Given the description of an element on the screen output the (x, y) to click on. 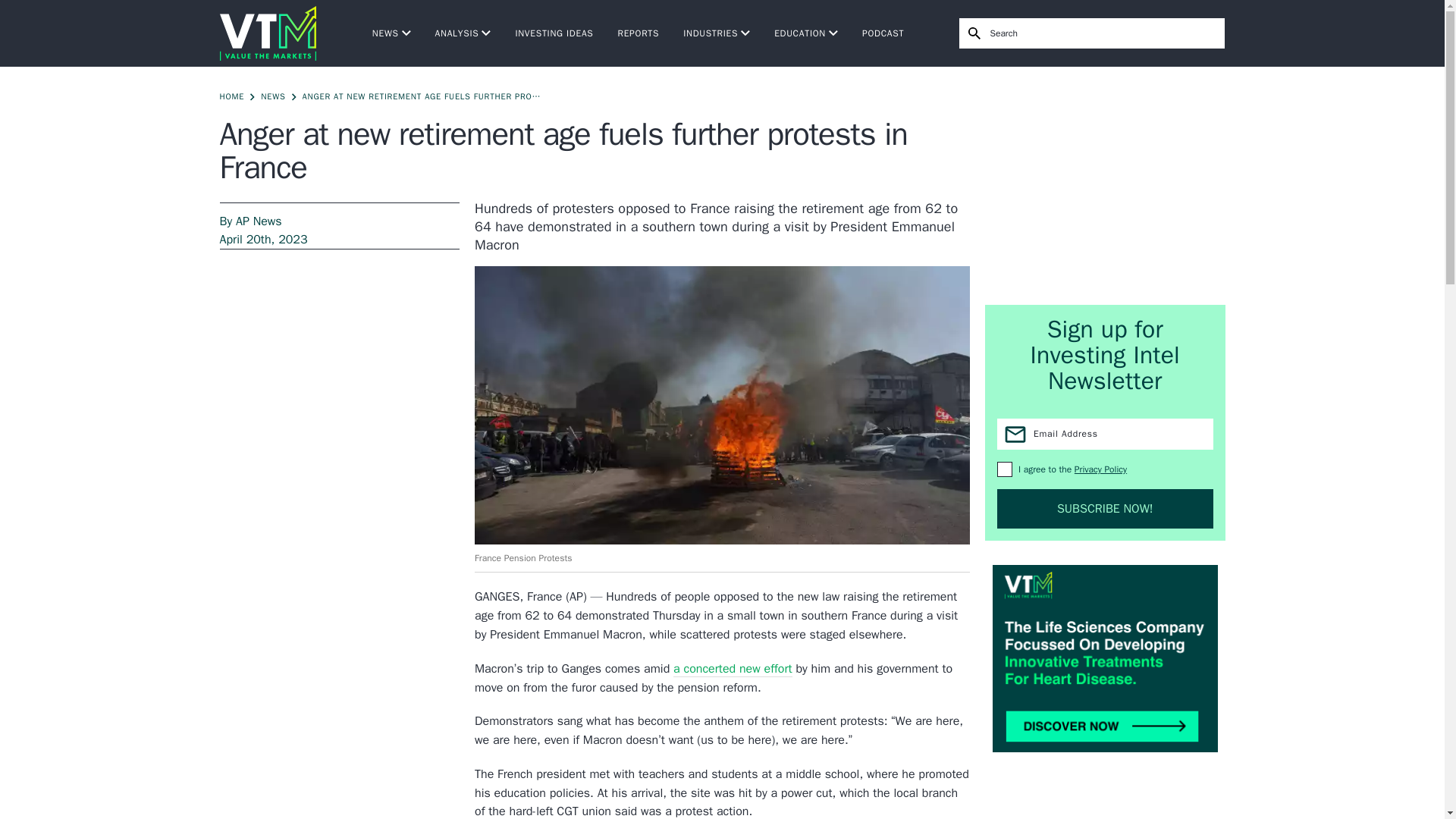
Advertisement (1105, 185)
INVESTING IDEAS (553, 33)
Yes (1004, 468)
ANALYSIS (463, 33)
EDUCATION (806, 33)
REPORTS (638, 33)
PODCAST (882, 33)
NEWS (391, 33)
INDUSTRIES (715, 33)
